Given the description of an element on the screen output the (x, y) to click on. 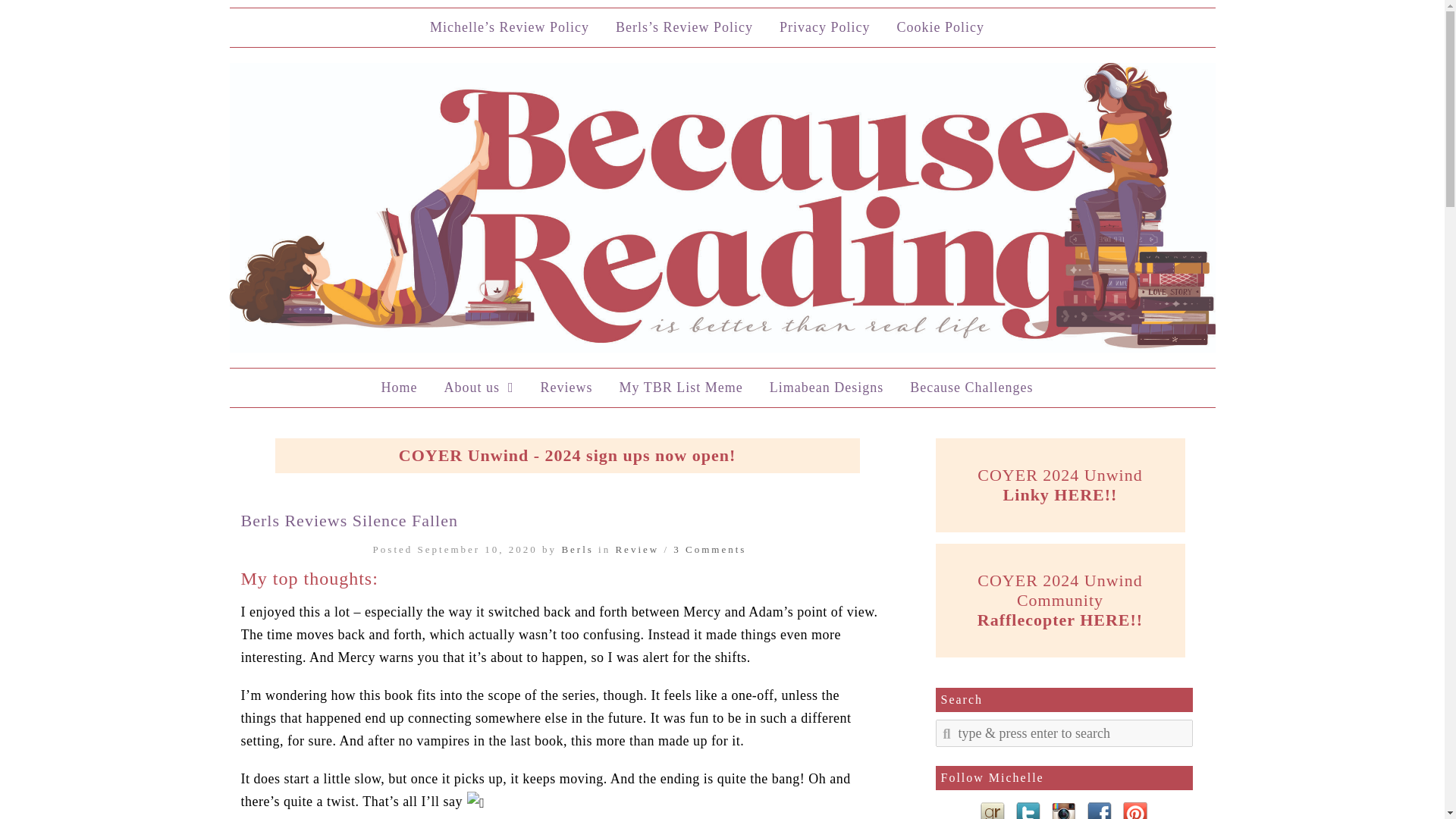
Berls (576, 549)
Cookie Policy (940, 27)
Limabean Designs (826, 387)
Reviews (566, 387)
3 Comments (708, 549)
About us   (478, 387)
Home (398, 387)
View all posts in Review (636, 549)
Privacy Policy (825, 27)
Because Challenges (970, 387)
